Given the description of an element on the screen output the (x, y) to click on. 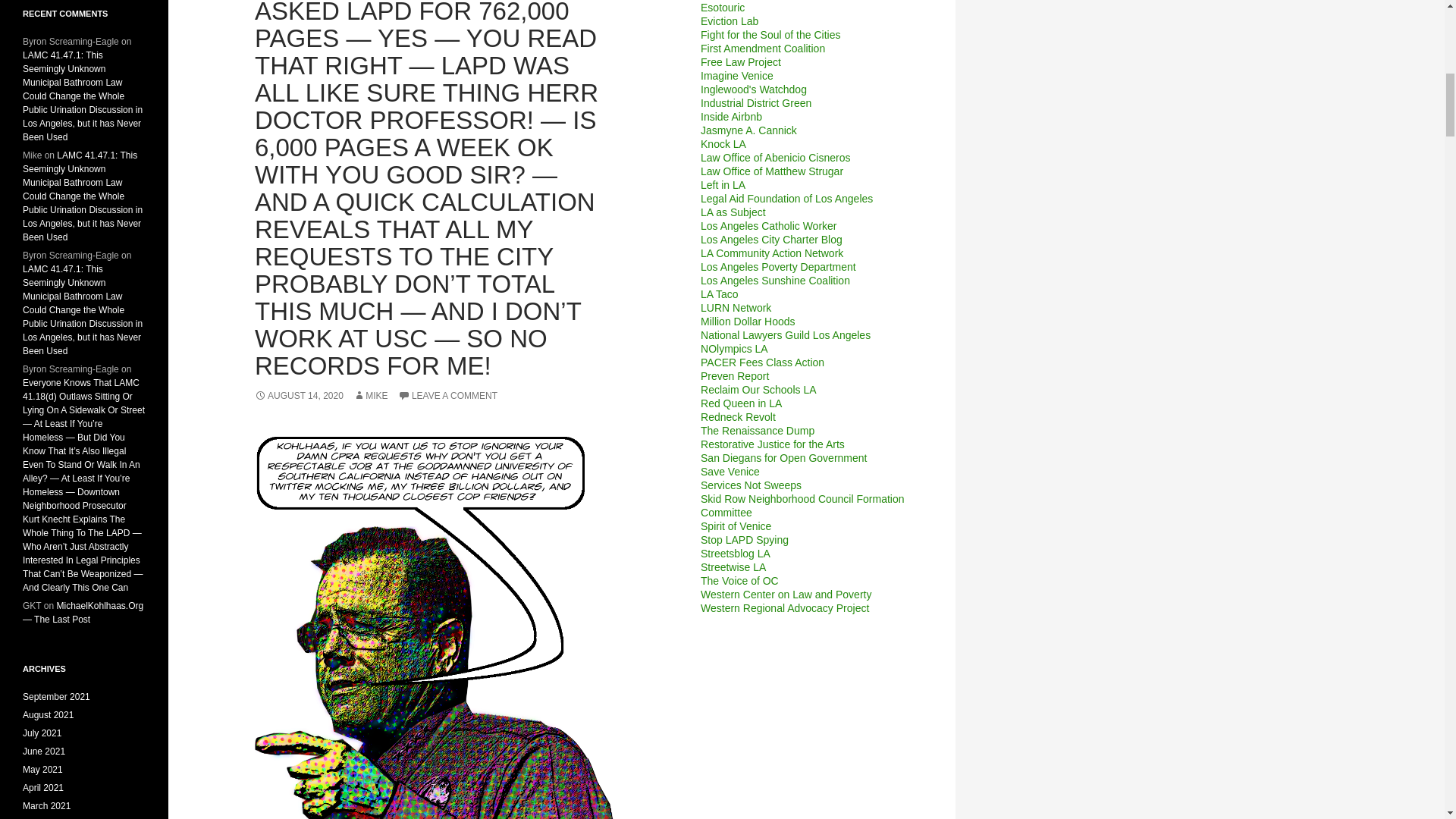
AUGUST 14, 2020 (298, 395)
LEAVE A COMMENT (447, 395)
MIKE (370, 395)
